Given the description of an element on the screen output the (x, y) to click on. 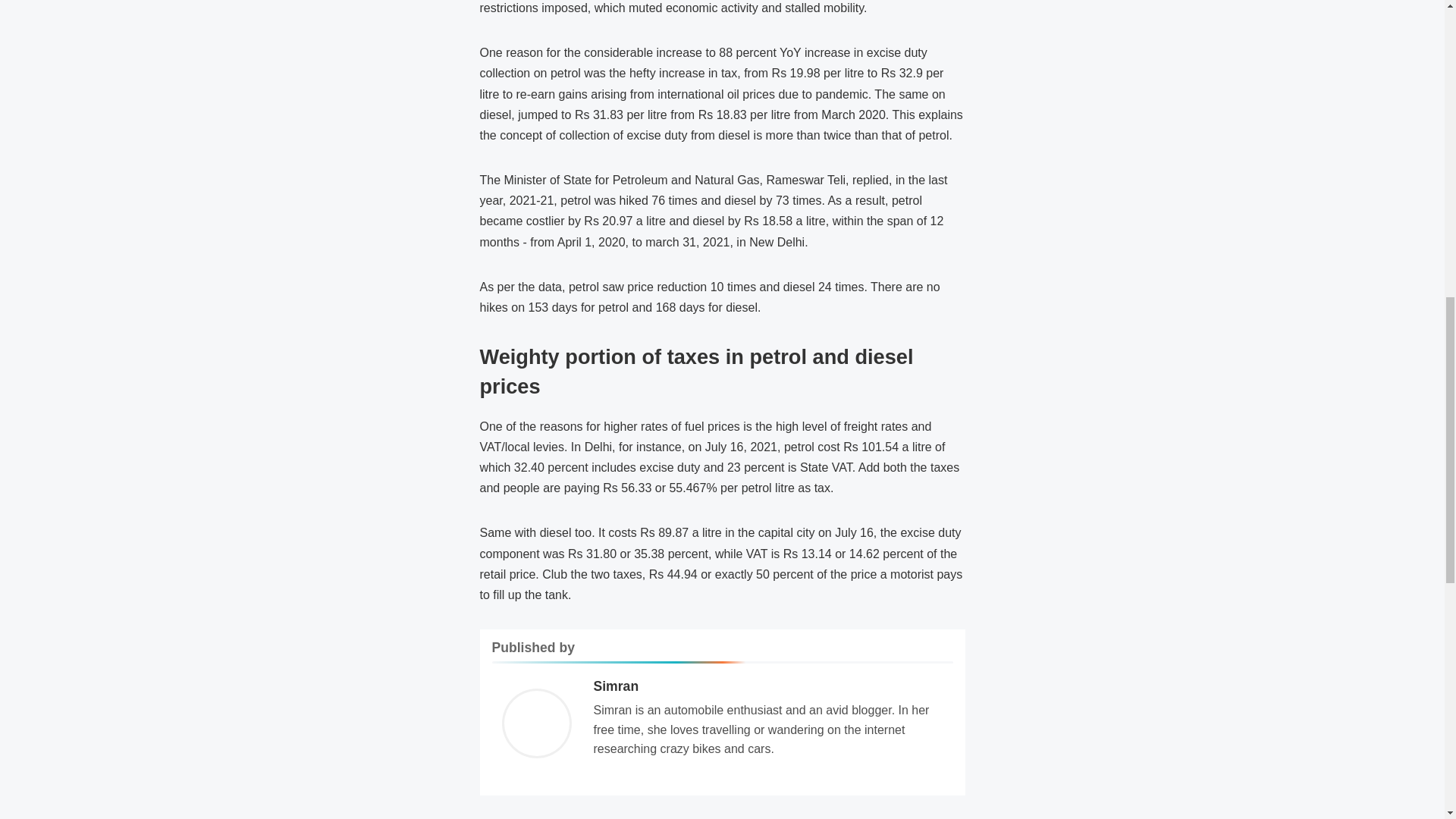
Simran (615, 685)
